Given the description of an element on the screen output the (x, y) to click on. 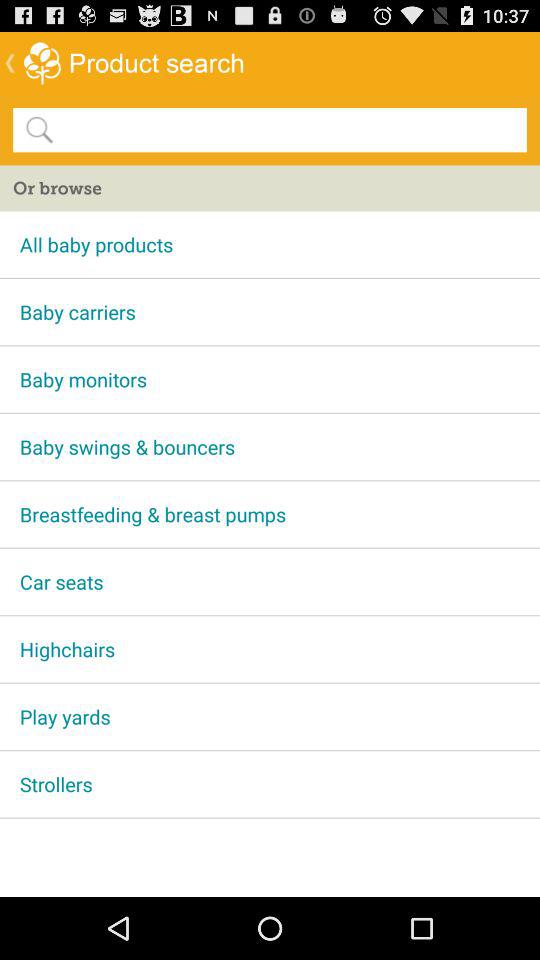
turn on the icon below baby monitors icon (270, 446)
